Given the description of an element on the screen output the (x, y) to click on. 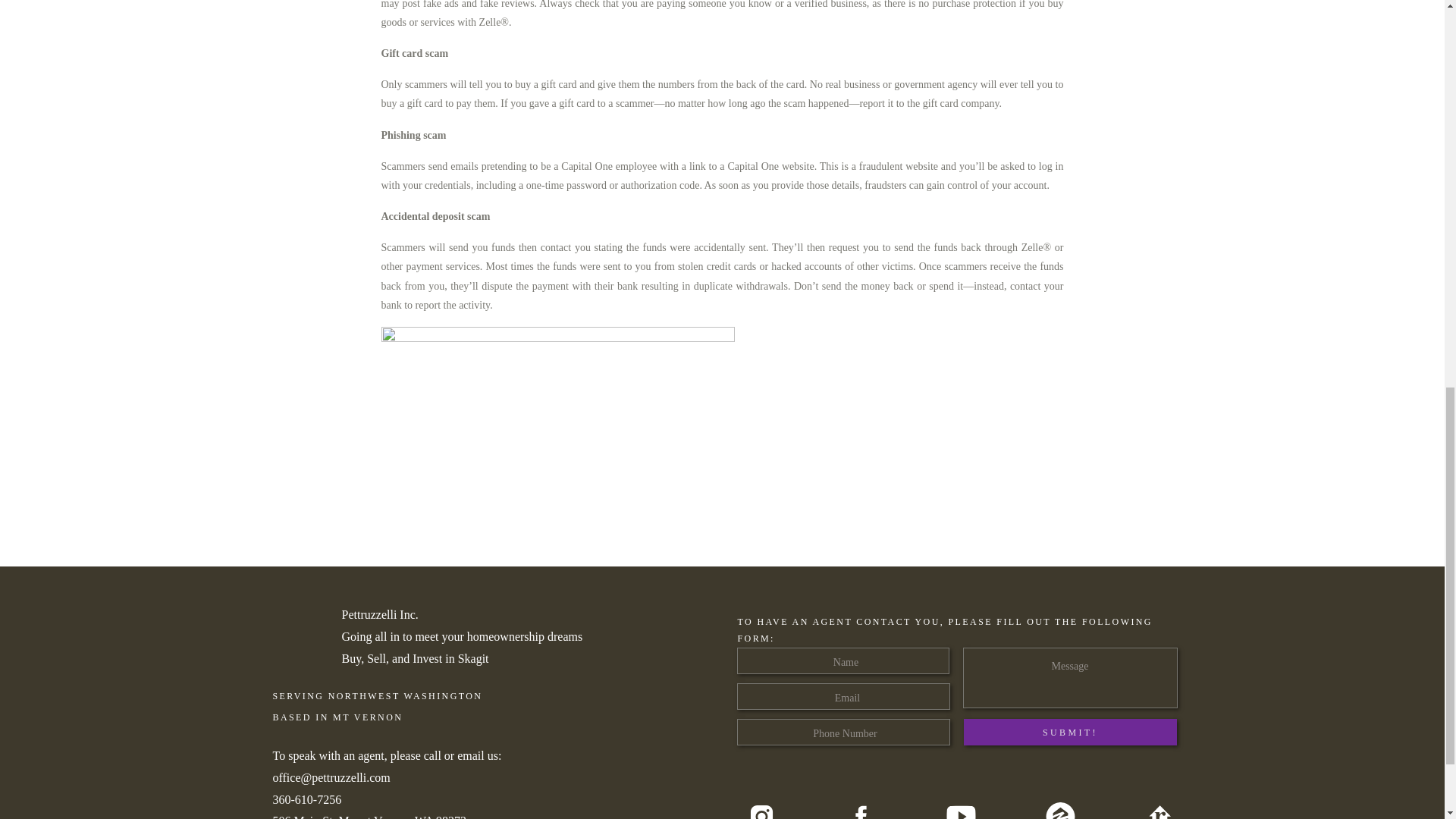
SUBMIT! (1069, 731)
